Given the description of an element on the screen output the (x, y) to click on. 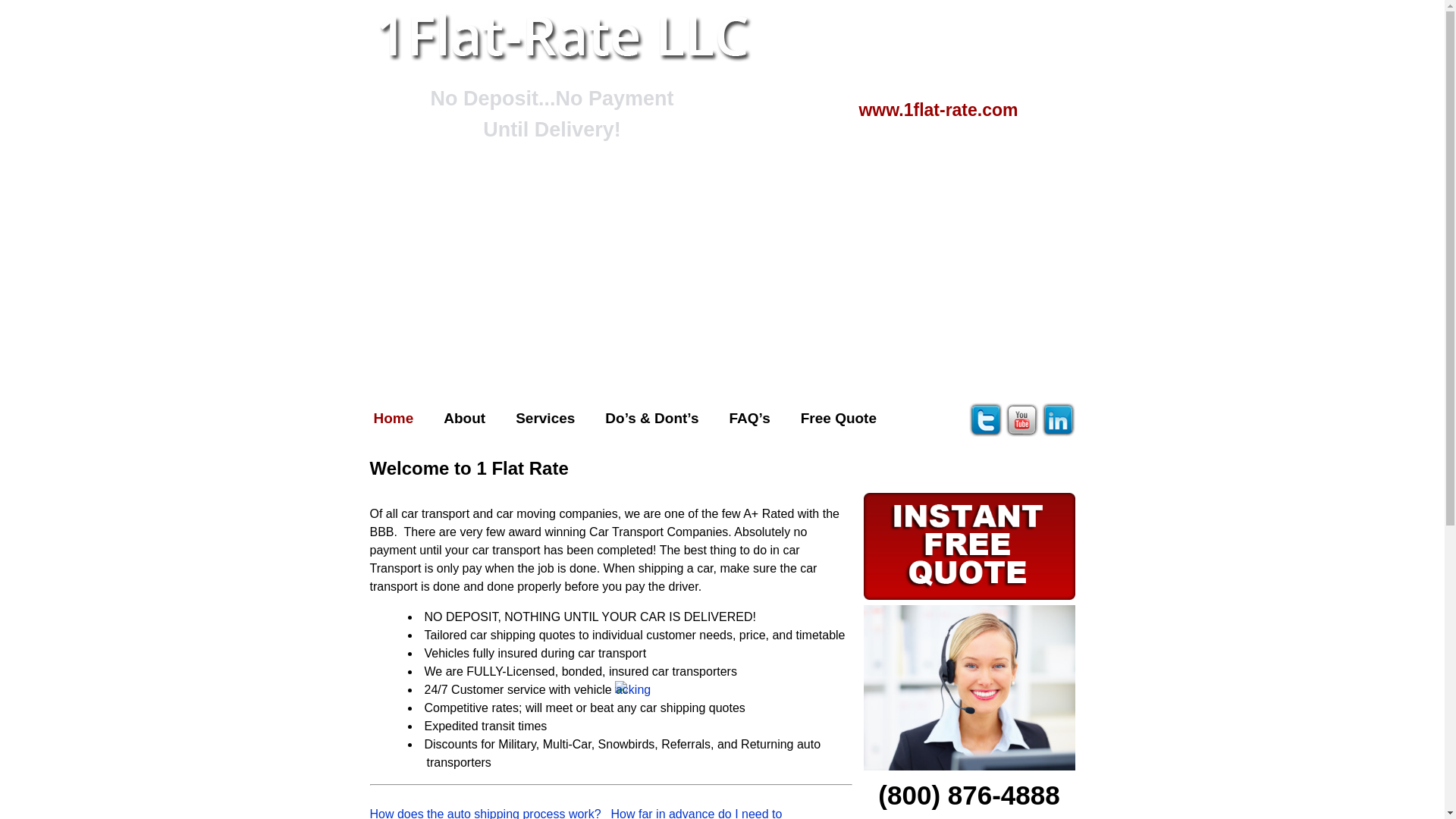
Free Quote Element type: text (838, 419)
About Element type: text (464, 419)
Home Element type: text (392, 419)
Services Element type: text (544, 419)
